Given the description of an element on the screen output the (x, y) to click on. 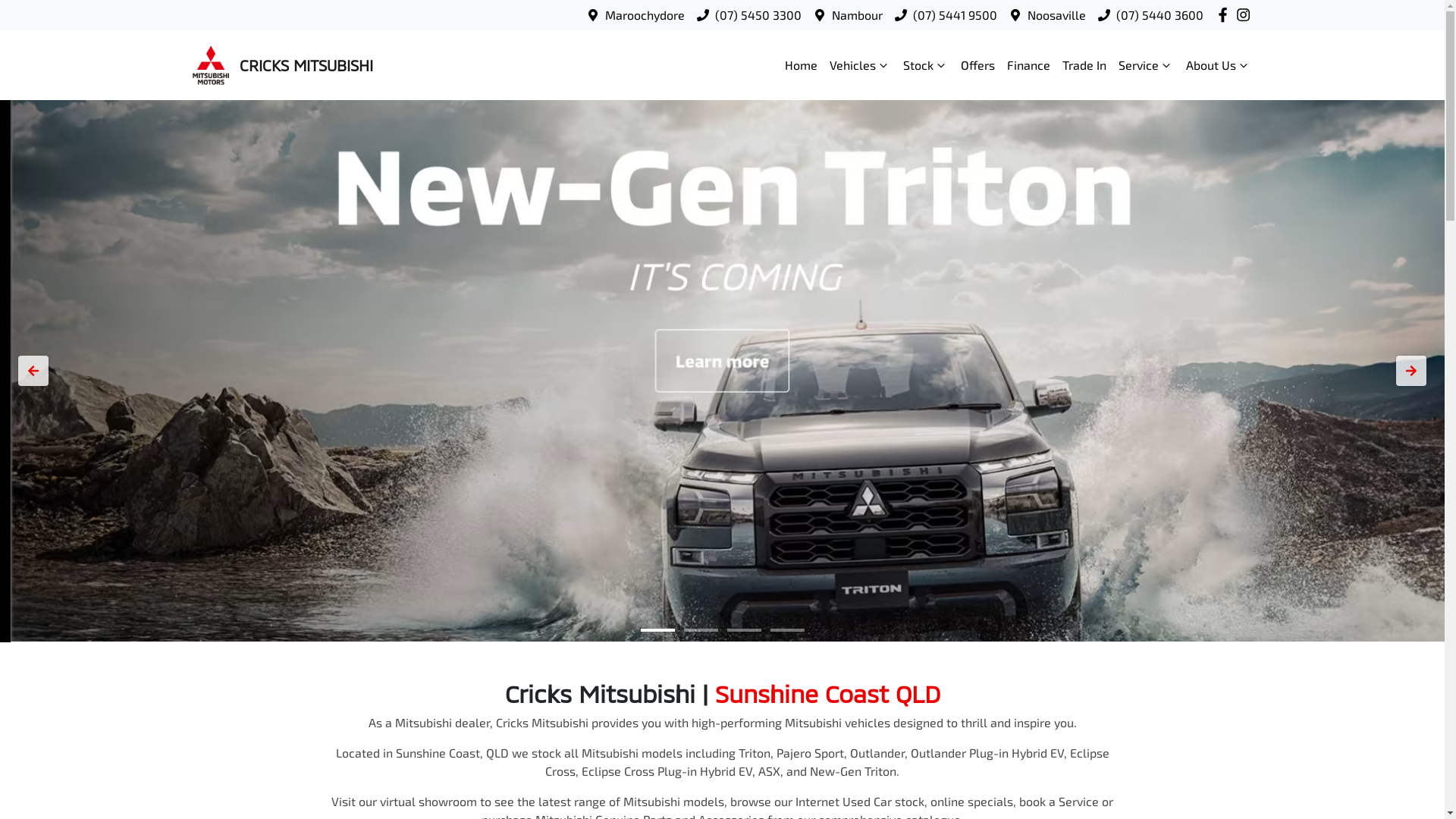
Maroochydore Element type: text (644, 14)
(07) 5441 9500 Element type: text (955, 14)
About Us Element type: text (1218, 65)
Home Element type: text (800, 65)
Finance Element type: text (1028, 65)
Service Element type: text (1145, 65)
Stock Element type: text (924, 65)
(07) 5440 3600 Element type: text (1159, 14)
Trade In Element type: text (1083, 65)
Offers Element type: text (976, 65)
(07) 5450 3300 Element type: text (758, 14)
Noosaville Element type: text (1056, 14)
CRICKS MITSUBISHI Element type: text (280, 65)
Vehicles Element type: text (860, 65)
Nambour Element type: text (856, 14)
